Given the description of an element on the screen output the (x, y) to click on. 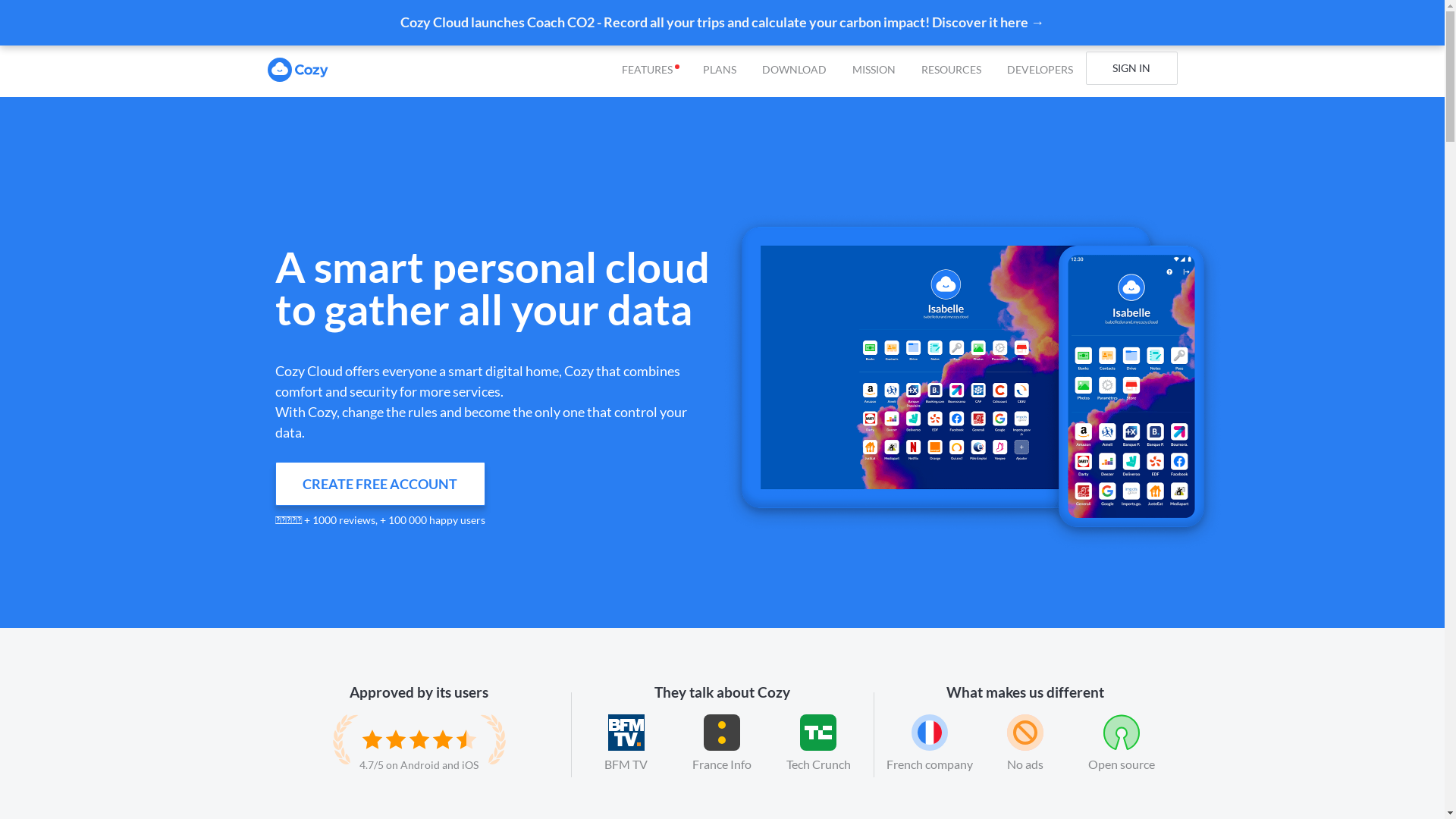
CREATE FREE ACCOUNT Element type: text (379, 483)
PLANS Element type: text (719, 69)
SIGN IN Element type: text (1130, 67)
RESOURCES Element type: text (951, 69)
DEVELOPERS Element type: text (1039, 69)
FEATURES Element type: text (649, 69)
MISSION Element type: text (873, 69)
DOWNLOAD Element type: text (794, 69)
